Given the description of an element on the screen output the (x, y) to click on. 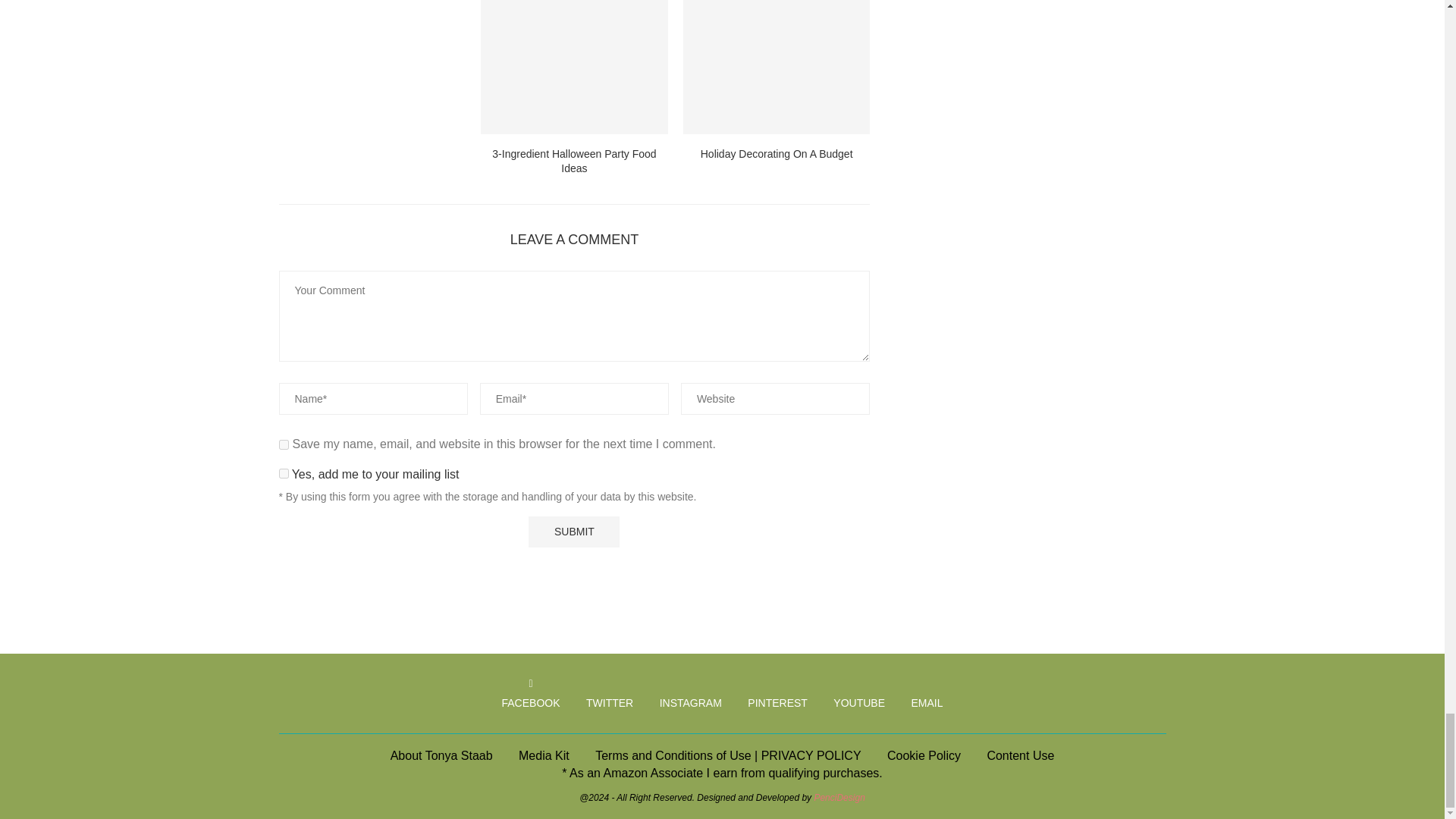
yes (283, 444)
1 (283, 473)
Holiday Decorating On A Budget (776, 67)
3-Ingredient Halloween Party Food Ideas (574, 67)
Submit (574, 531)
